Given the description of an element on the screen output the (x, y) to click on. 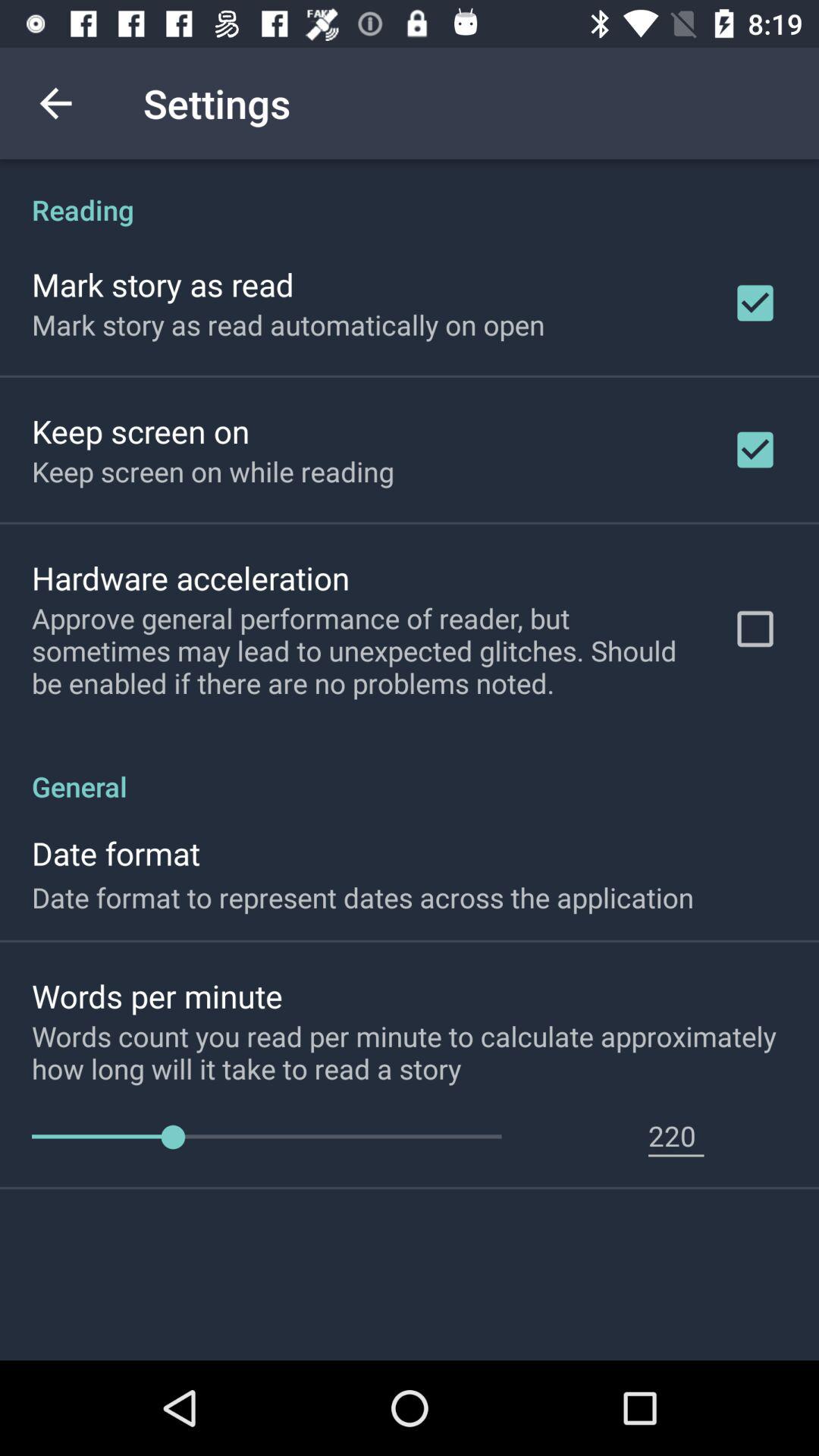
launch approve general performance (361, 650)
